Given the description of an element on the screen output the (x, y) to click on. 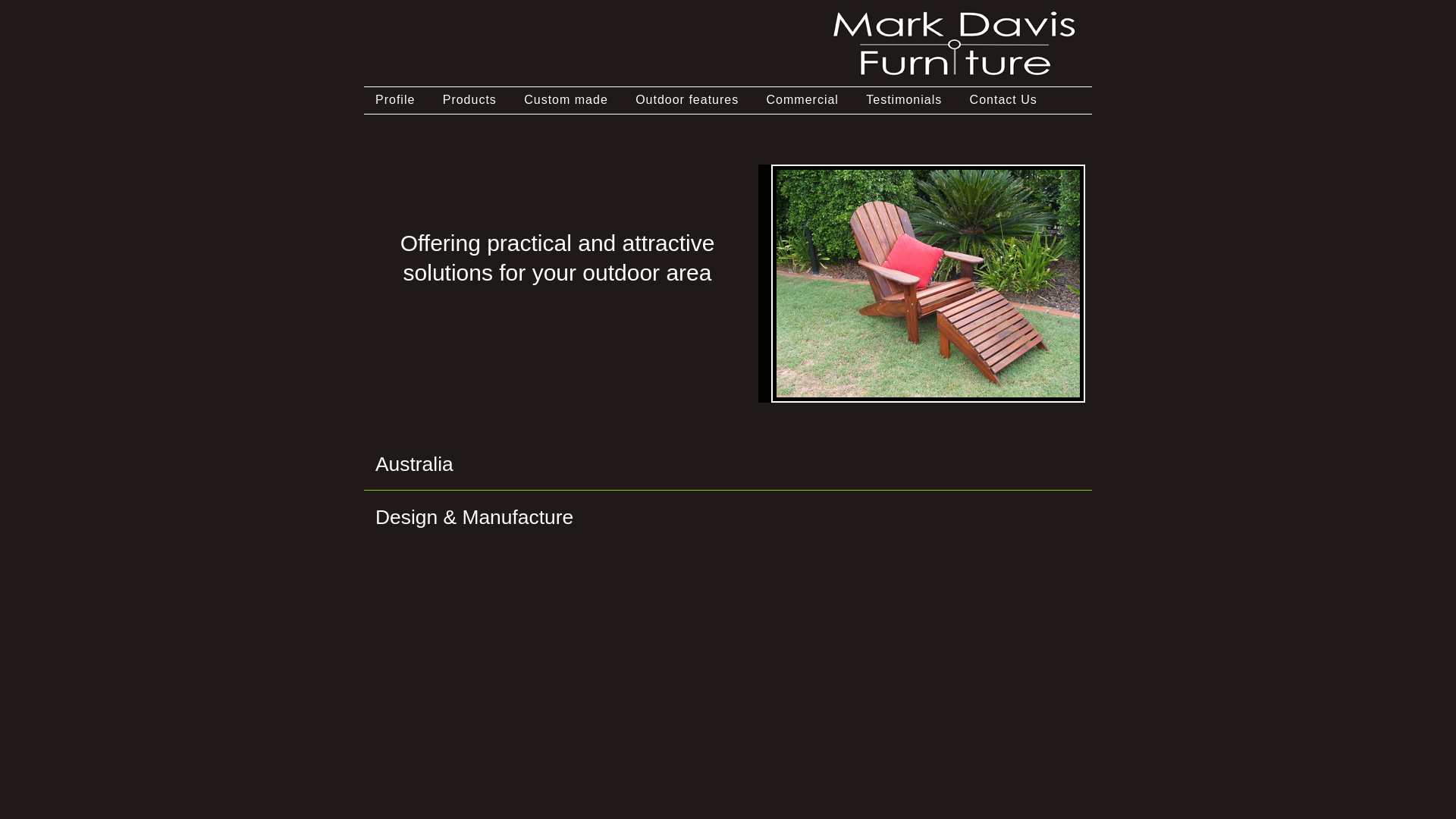
Profile Element type: text (394, 99)
Custom made Element type: text (565, 99)
Commercial Element type: text (802, 99)
Home Element type: hover (955, 79)
Contact Us Element type: text (1003, 99)
Products Element type: text (469, 99)
Outdoor features Element type: text (686, 99)
Testimonials Element type: text (903, 99)
